Given the description of an element on the screen output the (x, y) to click on. 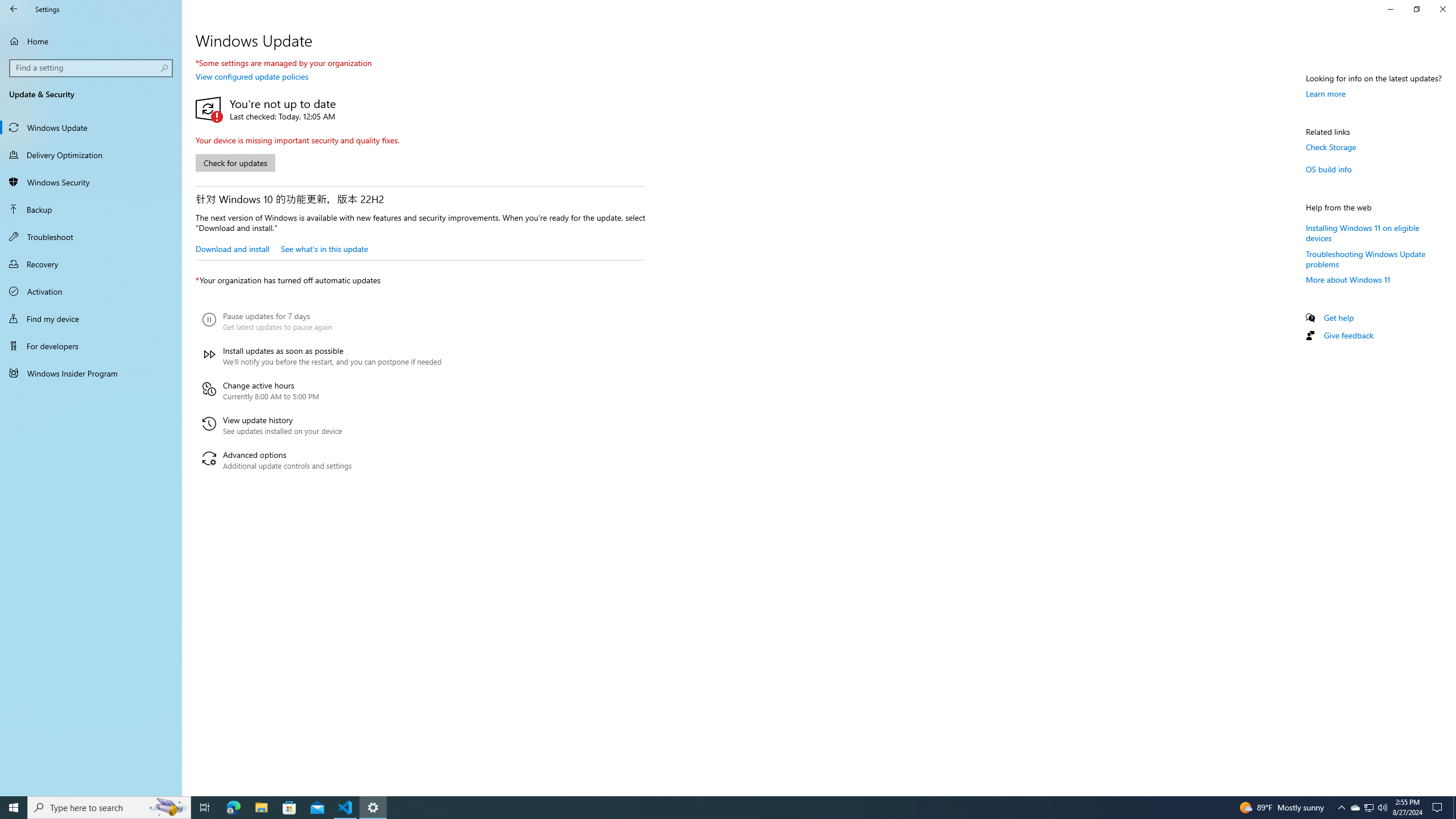
Settings - 1 running window (373, 807)
Q2790: 100% (1382, 807)
Windows Security (91, 181)
Windows Update (91, 126)
Troubleshooting Windows Update problems (1365, 258)
Search highlights icon opens search home window (167, 807)
Visual Studio Code - 1 running window (345, 807)
View configured update policies (251, 76)
Give feedback (1348, 335)
Installing Windows 11 on eligible devices (1362, 232)
Minimize Settings (1390, 9)
Check for updates (235, 162)
Recovery (1368, 807)
Start (91, 263)
